Given the description of an element on the screen output the (x, y) to click on. 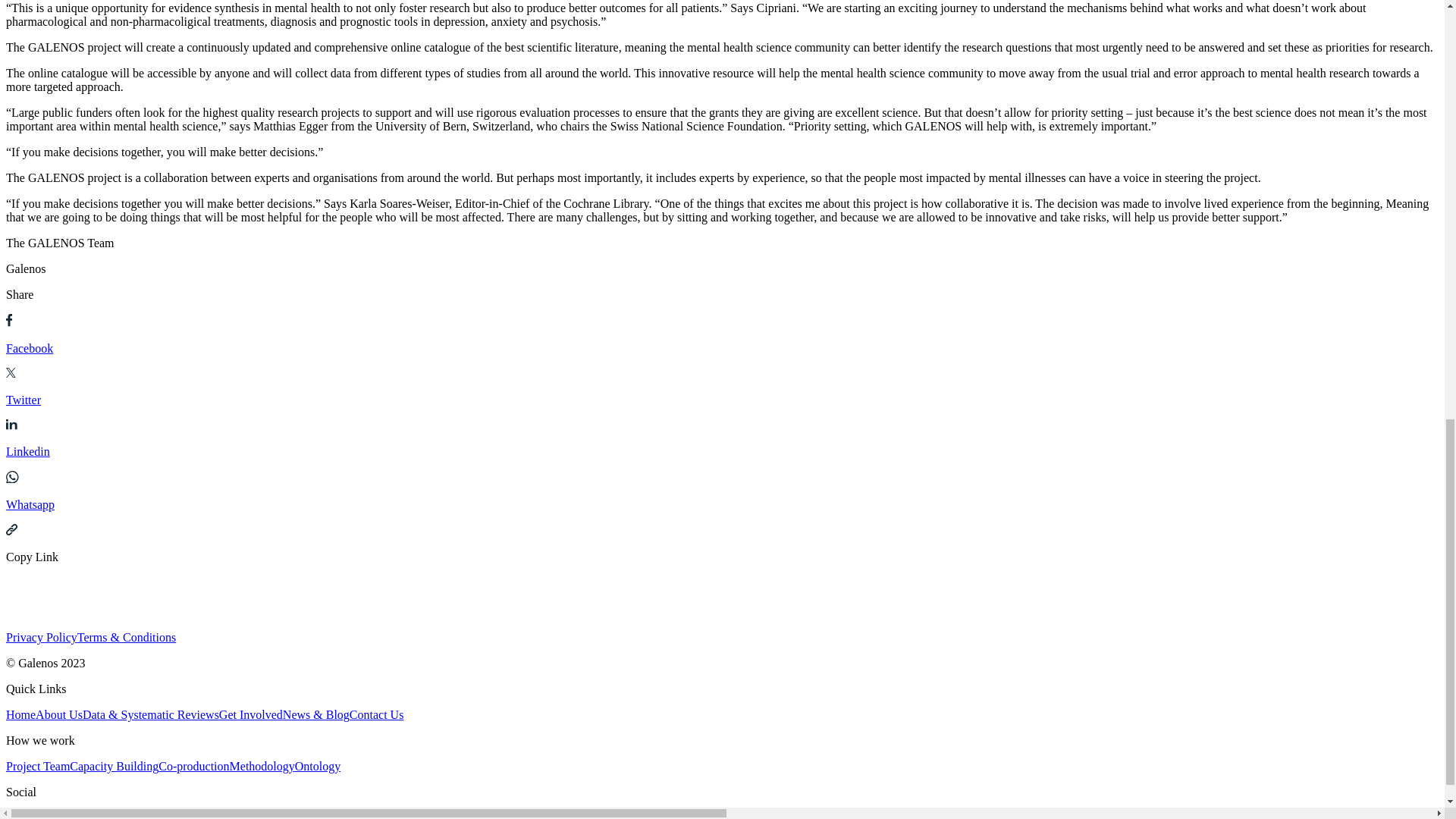
Contact Us (376, 714)
GALENOS (40, 623)
Linkedin (721, 452)
Whatsapp (721, 491)
Get Involved (250, 714)
Home (19, 714)
GALENOS (40, 602)
Facebook (721, 348)
Twitter (721, 399)
Privacy Policy (41, 636)
